Given the description of an element on the screen output the (x, y) to click on. 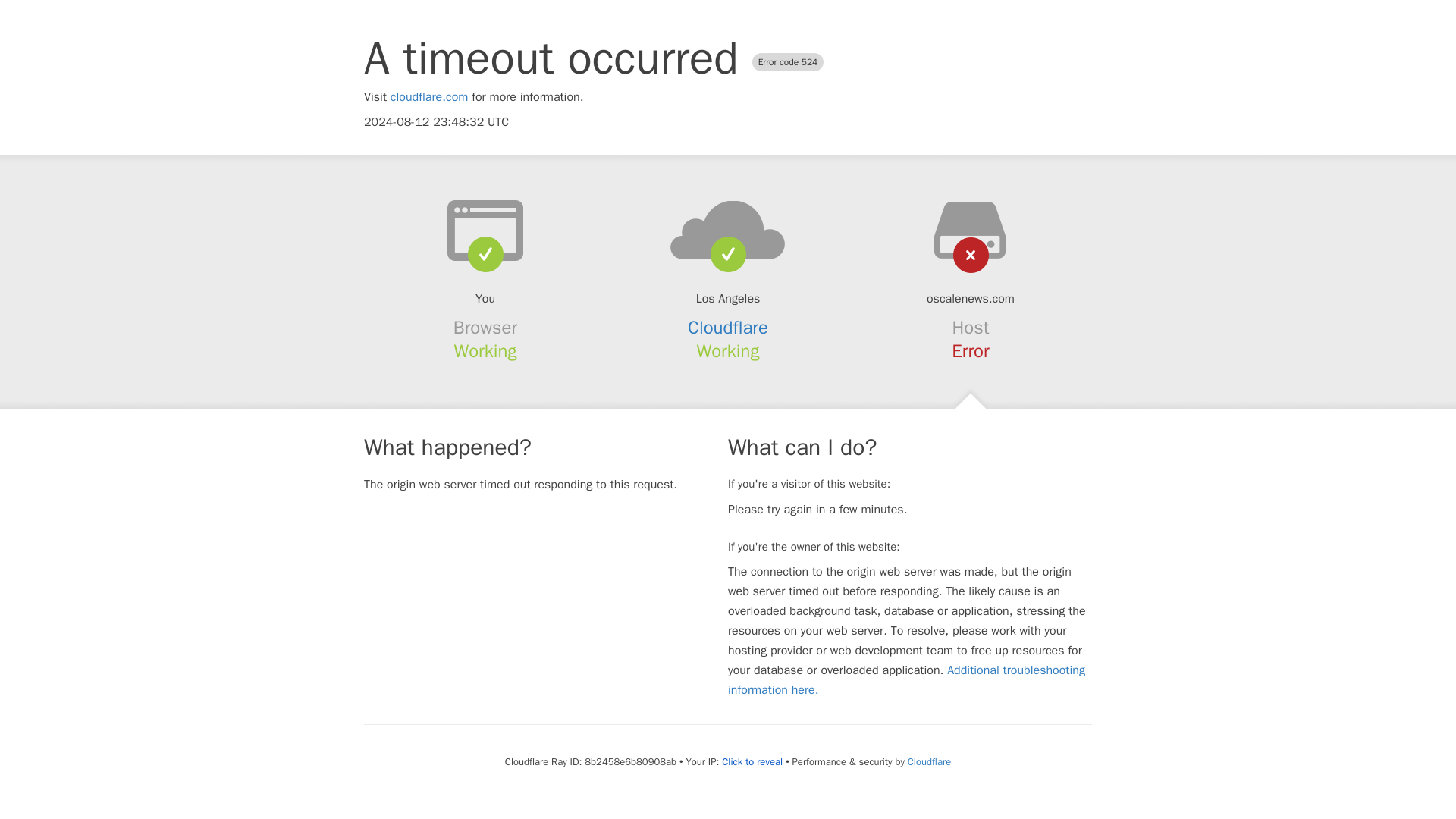
Cloudflare (727, 327)
Cloudflare (928, 761)
cloudflare.com (429, 96)
Click to reveal (752, 762)
Additional troubleshooting information here. (906, 679)
